Given the description of an element on the screen output the (x, y) to click on. 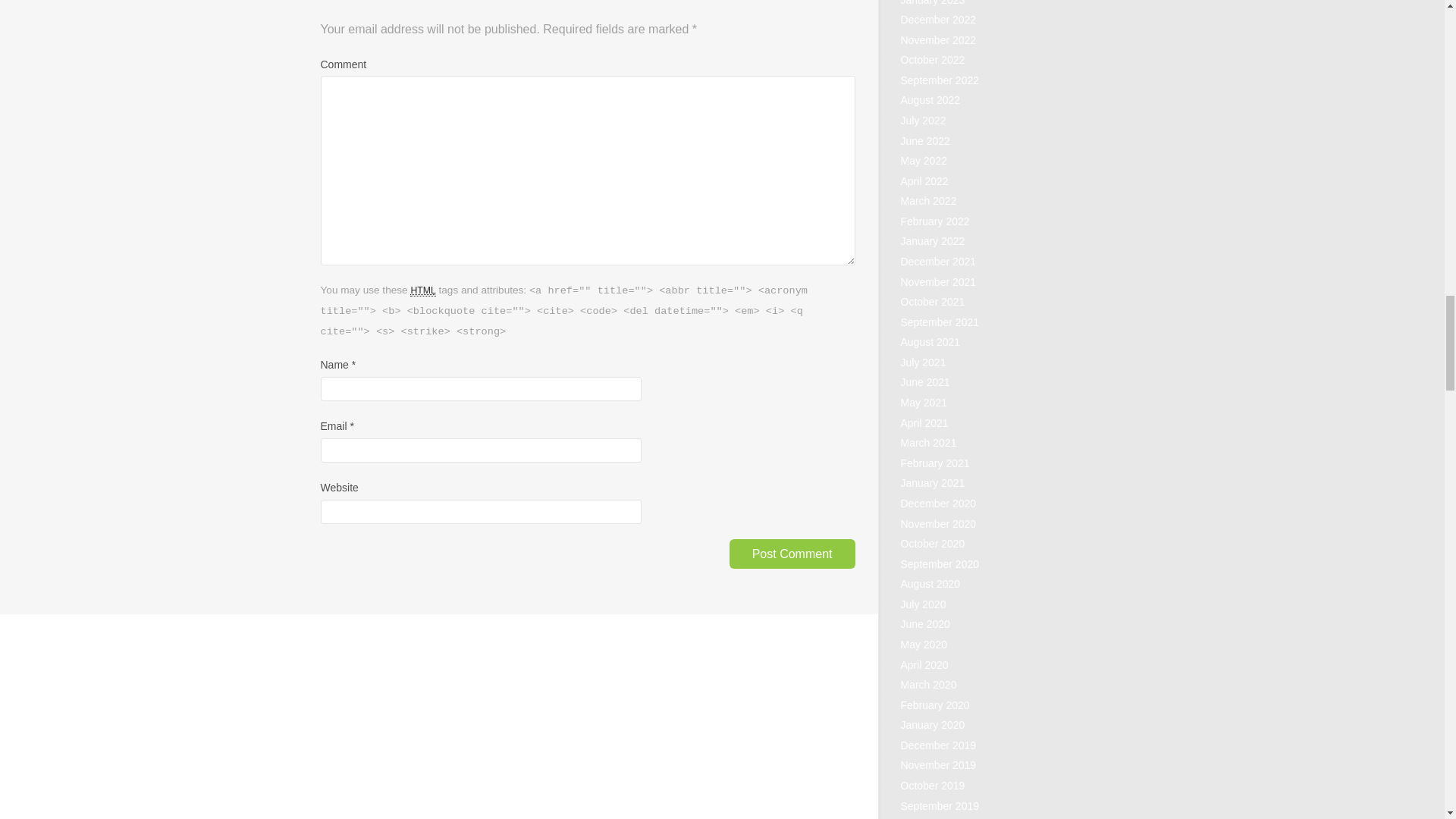
HyperText Markup Language (422, 290)
Post Comment (792, 553)
Post Comment (792, 553)
